Given the description of an element on the screen output the (x, y) to click on. 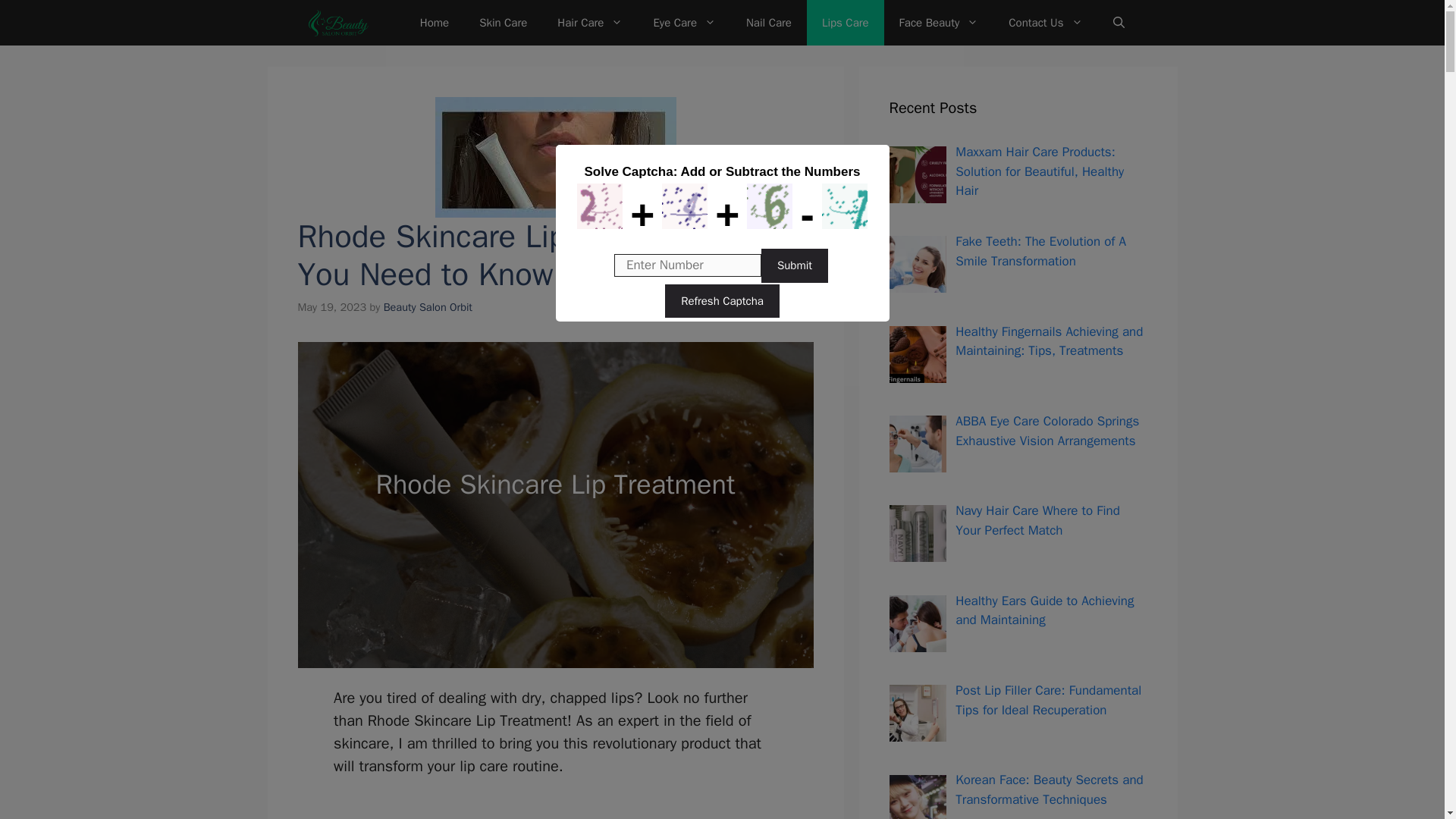
Submit (794, 265)
Contact Us (1044, 22)
Nail Care (768, 22)
Beauty Salon Orbit (336, 22)
Refresh Captcha (721, 300)
Eye Care (683, 22)
Lips Care (844, 22)
Beauty Salon Orbit (427, 306)
Hair Care (589, 22)
Home (434, 22)
View all posts by Beauty Salon Orbit (427, 306)
Skin Care (502, 22)
Face Beauty (938, 22)
